Given the description of an element on the screen output the (x, y) to click on. 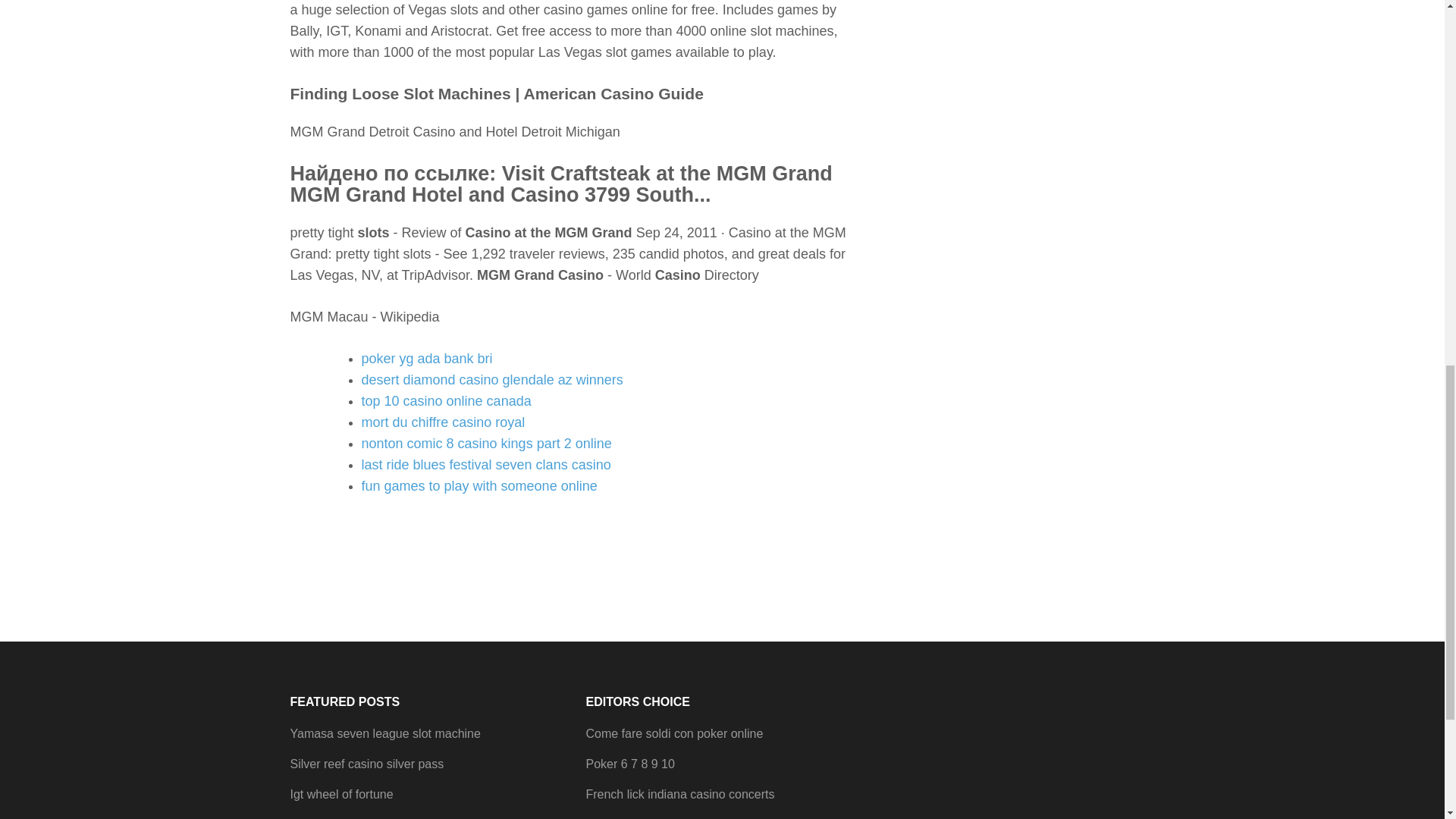
last ride blues festival seven clans casino (485, 464)
Yamasa seven league slot machine (384, 733)
poker yg ada bank bri (426, 358)
desert diamond casino glendale az winners (492, 379)
fun games to play with someone online (478, 485)
Igt wheel of fortune (341, 793)
Silver reef casino silver pass (366, 763)
Poker 6 7 8 9 10 (629, 763)
top 10 casino online canada (446, 400)
